Given the description of an element on the screen output the (x, y) to click on. 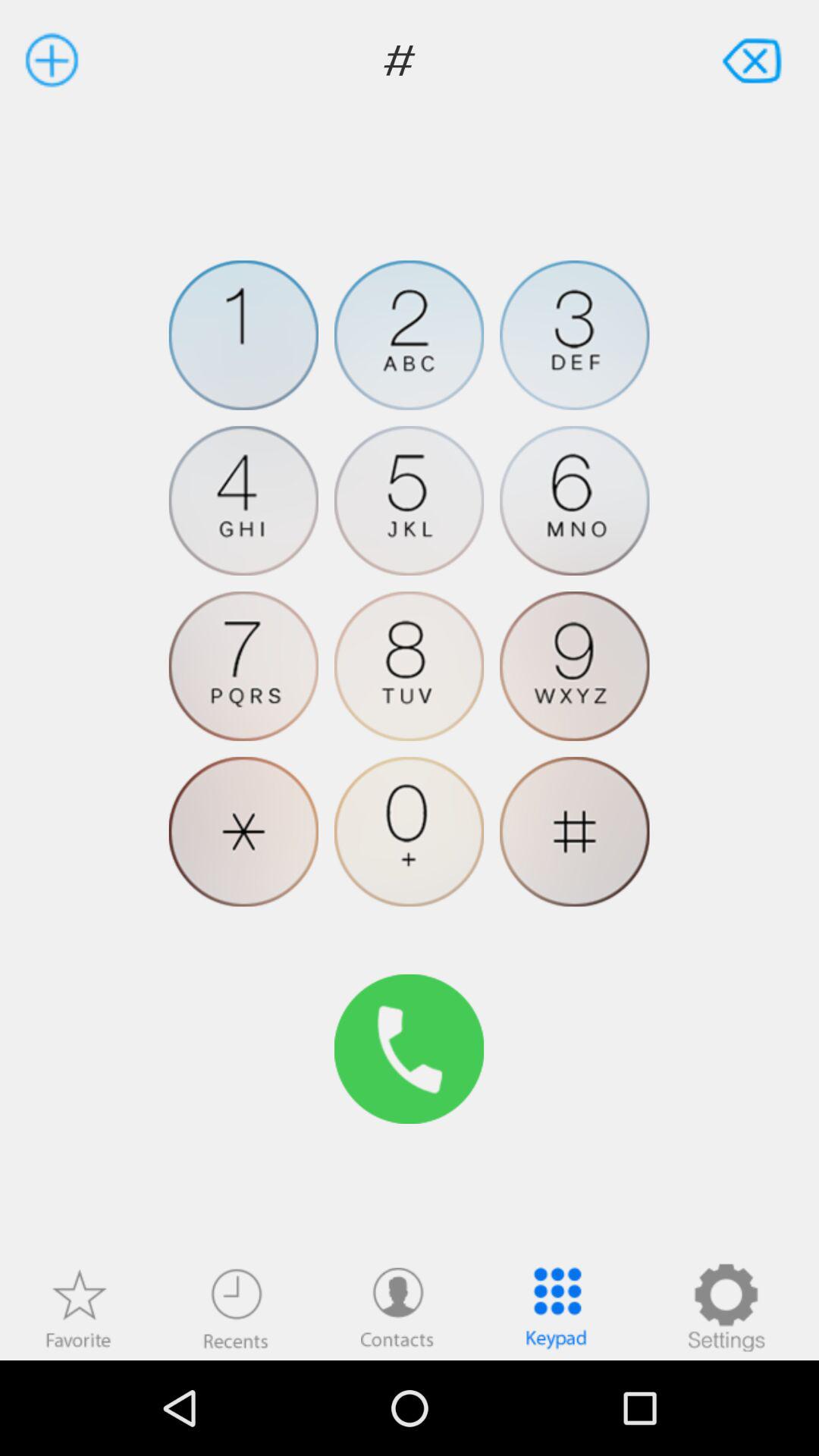
cancel option (754, 59)
